Given the description of an element on the screen output the (x, y) to click on. 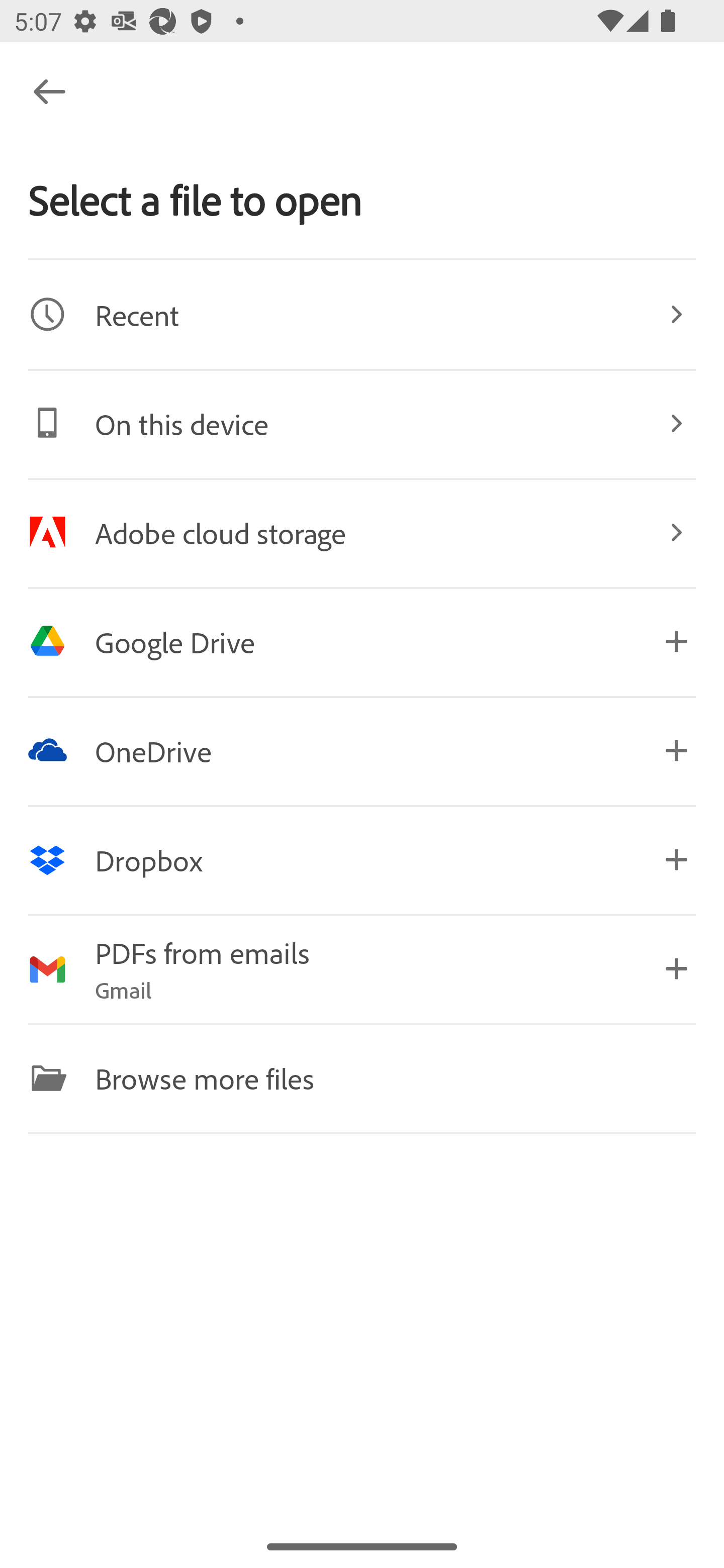
Navigate up (49, 91)
Image Recent (362, 314)
Image On this device (362, 423)
Image Adobe cloud storage (362, 532)
Image Google Drive (362, 641)
Image OneDrive (362, 750)
Image Dropbox (362, 859)
Image PDFs from emails Gmail (362, 968)
Image Browse more files (362, 1077)
